Given the description of an element on the screen output the (x, y) to click on. 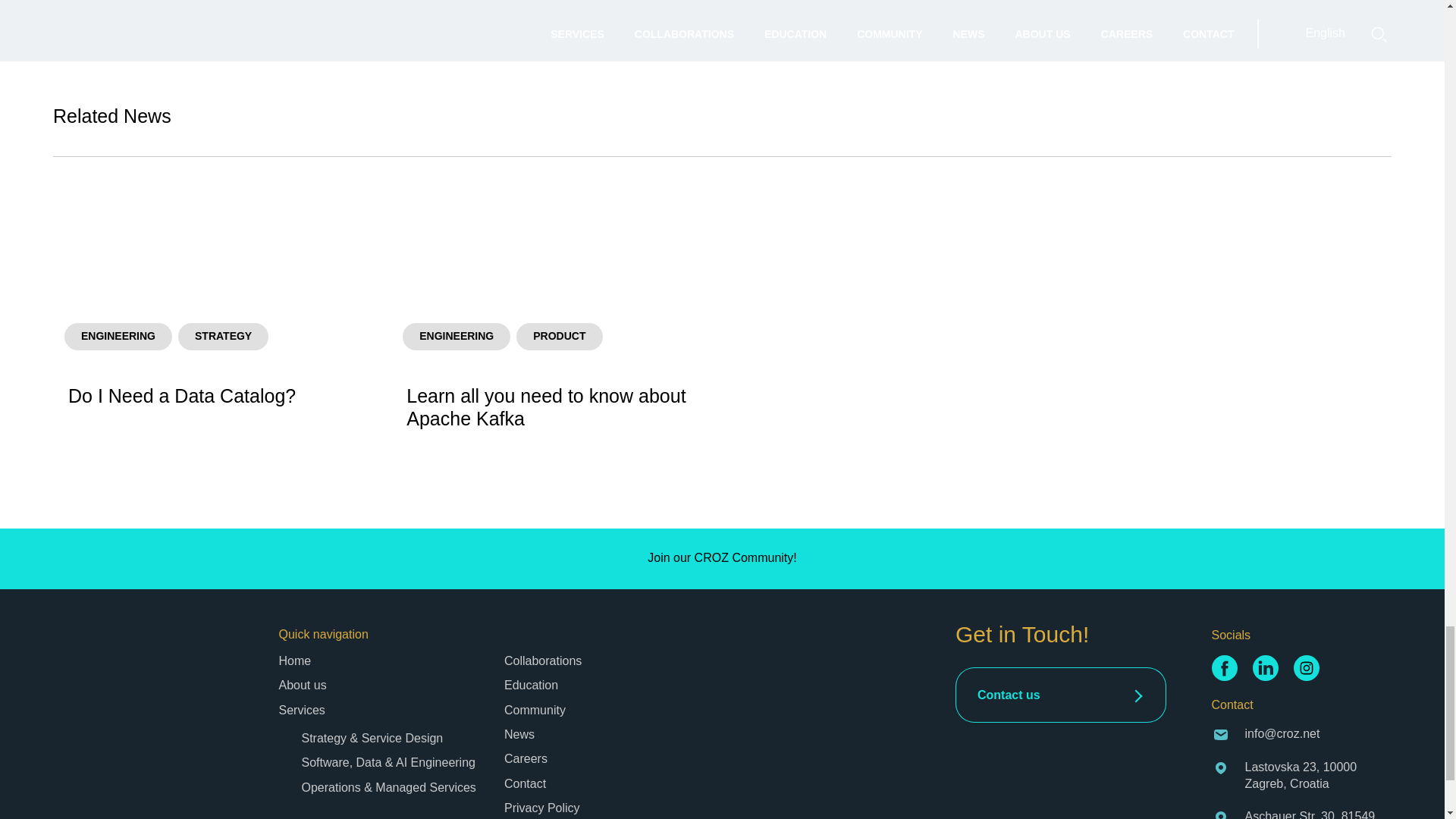
Join our CROZ Community! (721, 558)
About us (302, 684)
Home (295, 660)
Services (301, 709)
